Given the description of an element on the screen output the (x, y) to click on. 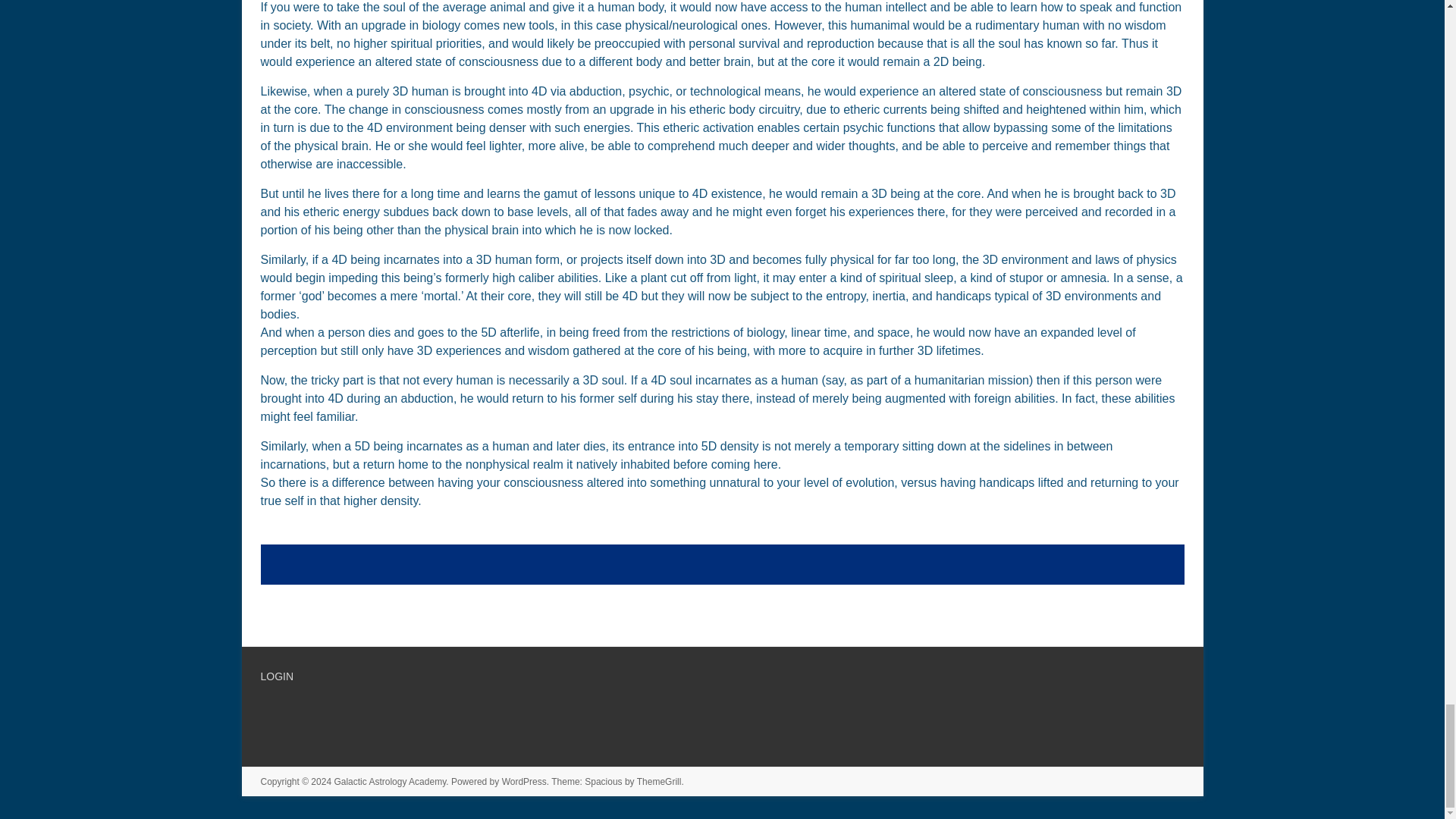
ThemeGrill (659, 781)
WordPress (524, 781)
Galactic Astrology Academy (389, 781)
